Given the description of an element on the screen output the (x, y) to click on. 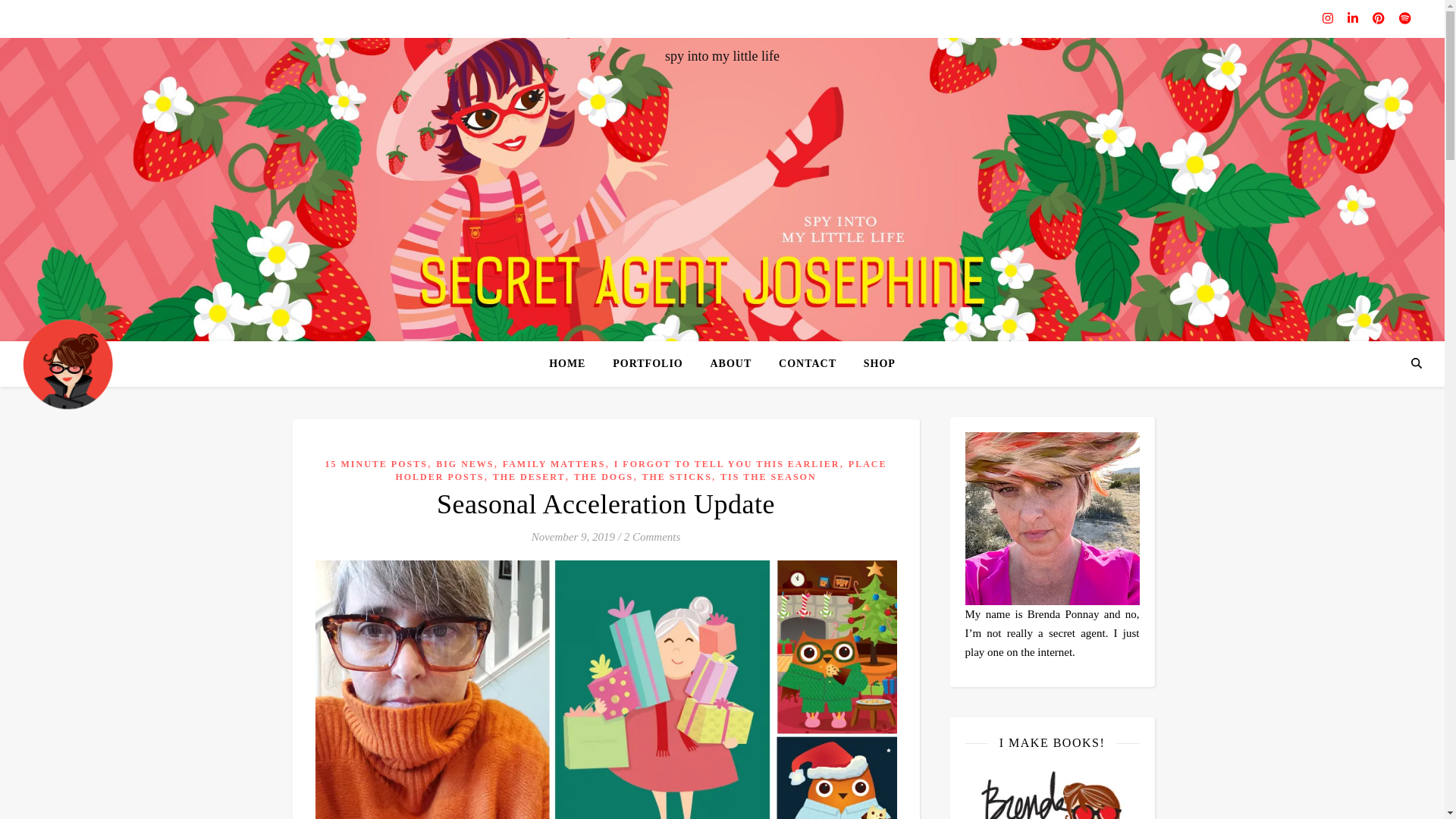
TIS THE SEASON (768, 476)
Secret Agent Josephine (68, 363)
CONTACT (807, 363)
THE DOGS (603, 476)
BIG NEWS (464, 463)
ABOUT (729, 363)
15 MINUTE POSTS (376, 463)
PORTFOLIO (647, 363)
HOME (572, 363)
